Given the description of an element on the screen output the (x, y) to click on. 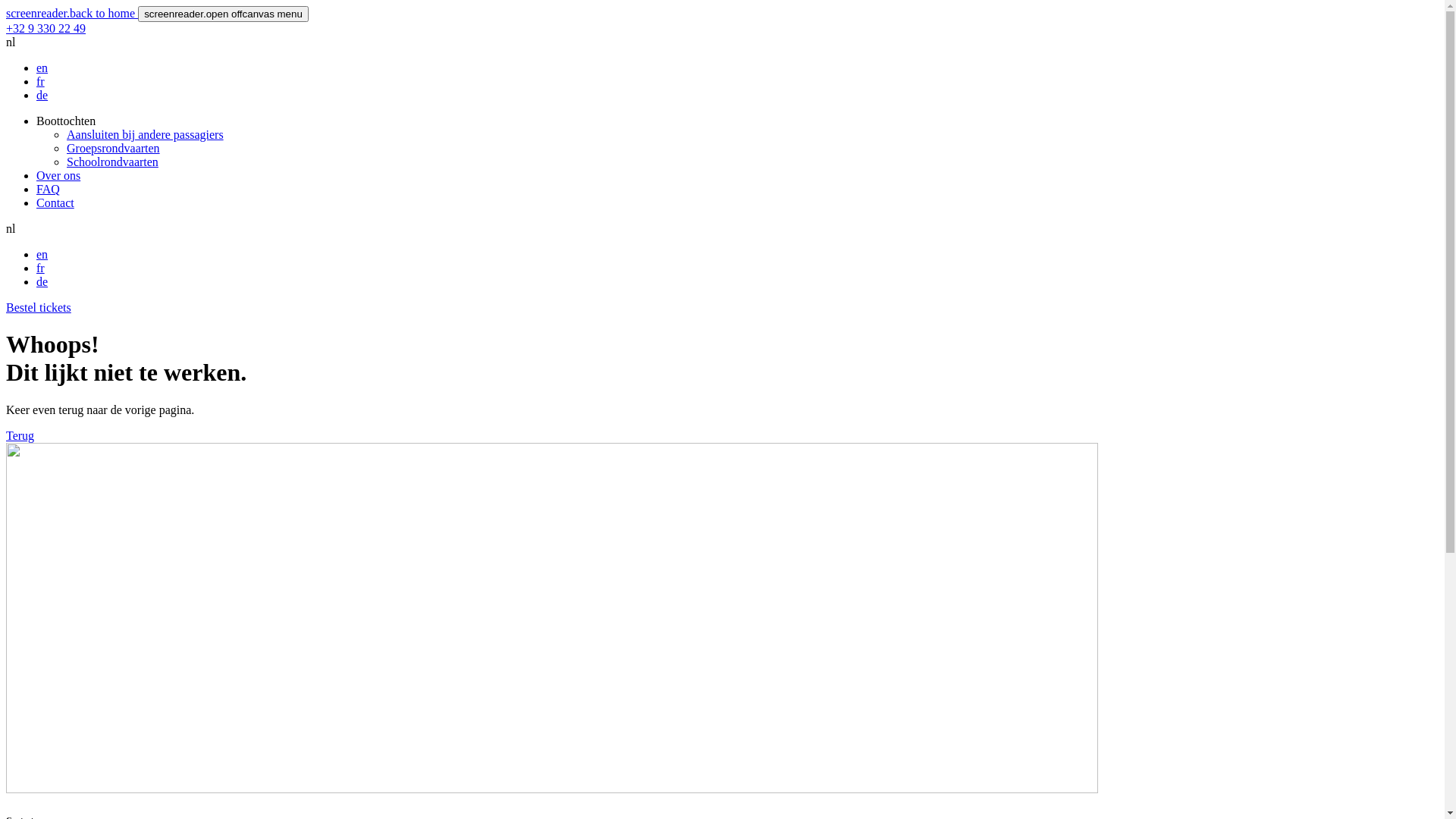
Schoolrondvaarten Element type: text (112, 161)
de Element type: text (41, 94)
Aansluiten bij andere passagiers Element type: text (144, 134)
Contact Element type: text (55, 202)
Bestel tickets Element type: text (38, 307)
Terug Element type: text (20, 435)
fr Element type: text (40, 81)
de Element type: text (41, 281)
+32 9 330 22 49 Element type: text (45, 27)
fr Element type: text (40, 267)
Groepsrondvaarten Element type: text (113, 147)
screenreader.open offcanvas menu Element type: text (223, 13)
screenreader.back to home Element type: text (72, 12)
Over ons Element type: text (58, 175)
FAQ Element type: text (47, 188)
en Element type: text (41, 67)
Boottochten Element type: text (65, 120)
en Element type: text (41, 253)
